Given the description of an element on the screen output the (x, y) to click on. 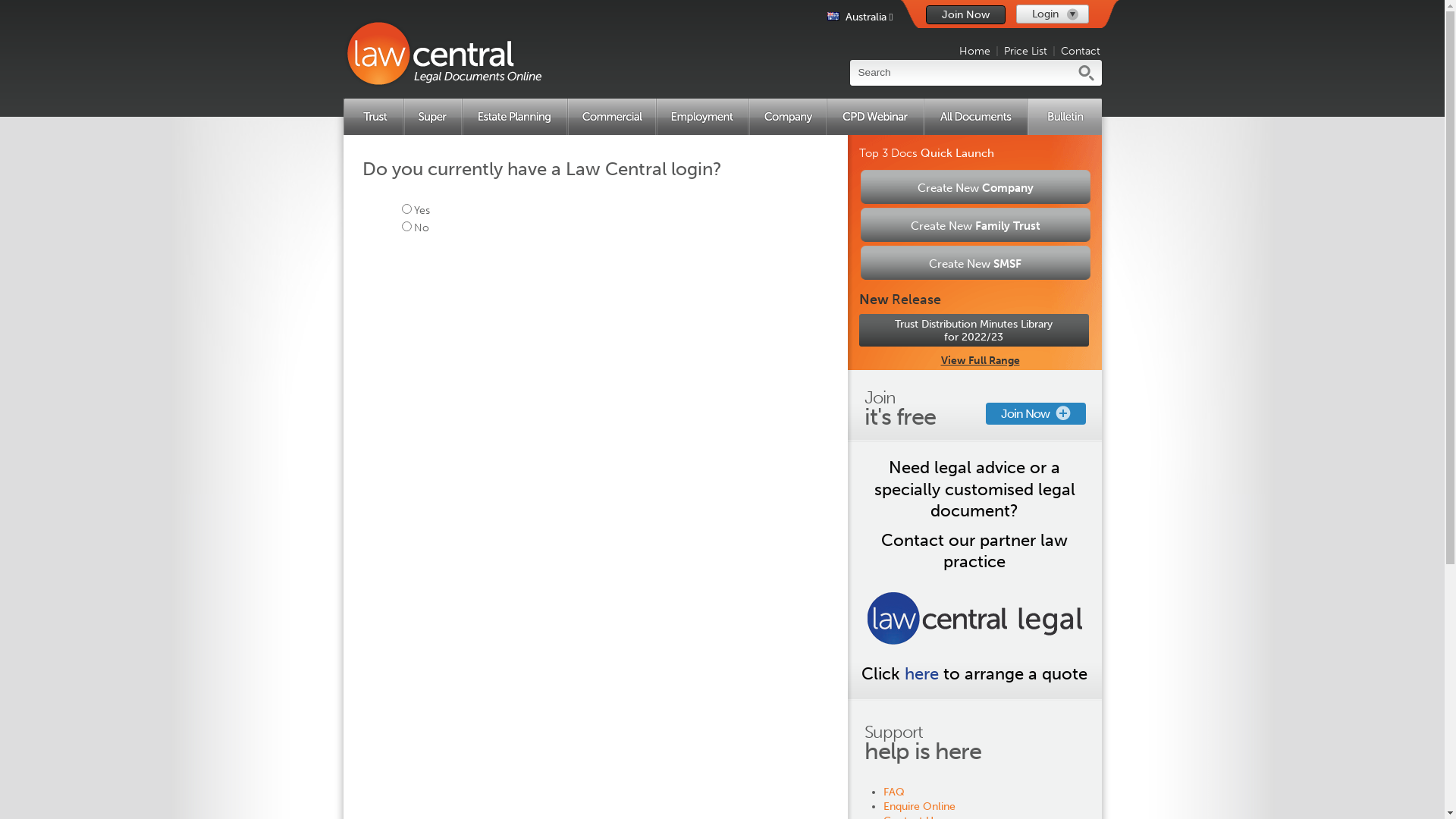
FAQ Element type: text (893, 791)
Trust Distribution Minutes Library
for 2022/23 Element type: text (973, 329)
Contact Element type: text (1080, 50)
Create New SMSF Element type: text (974, 262)
Search Element type: hover (960, 71)
Create New Company Element type: text (974, 186)
View Full Range Element type: text (979, 358)
Enquire Online Element type: text (919, 806)
Join Now Element type: text (1035, 413)
Join Now Element type: text (964, 14)
Price List Element type: text (1024, 50)
here Element type: text (921, 673)
Login Element type: text (1052, 13)
Home Element type: text (974, 50)
Create New Family Trust Element type: text (974, 224)
